Given the description of an element on the screen output the (x, y) to click on. 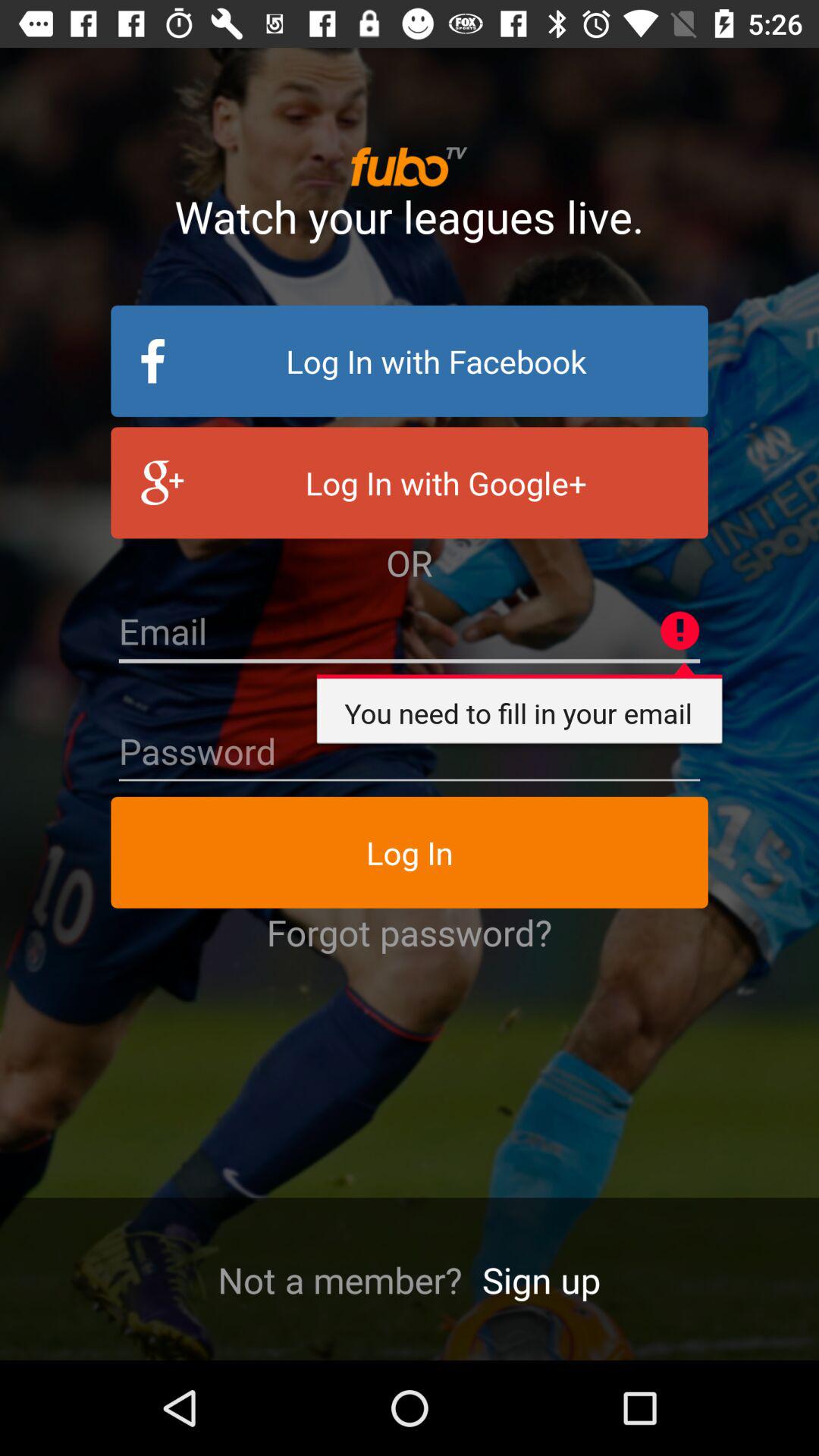
enter password (409, 751)
